Given the description of an element on the screen output the (x, y) to click on. 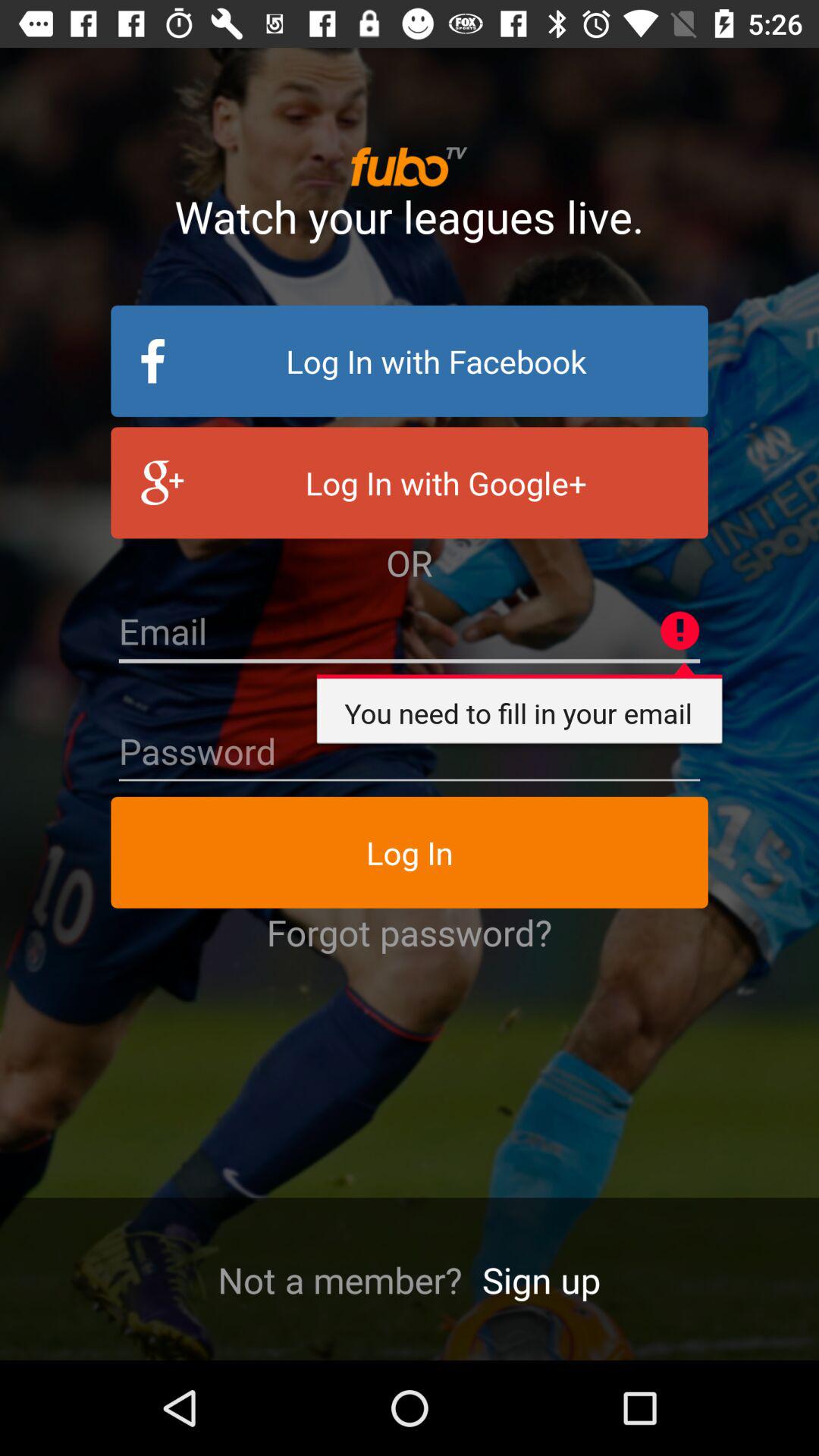
enter password (409, 751)
